Given the description of an element on the screen output the (x, y) to click on. 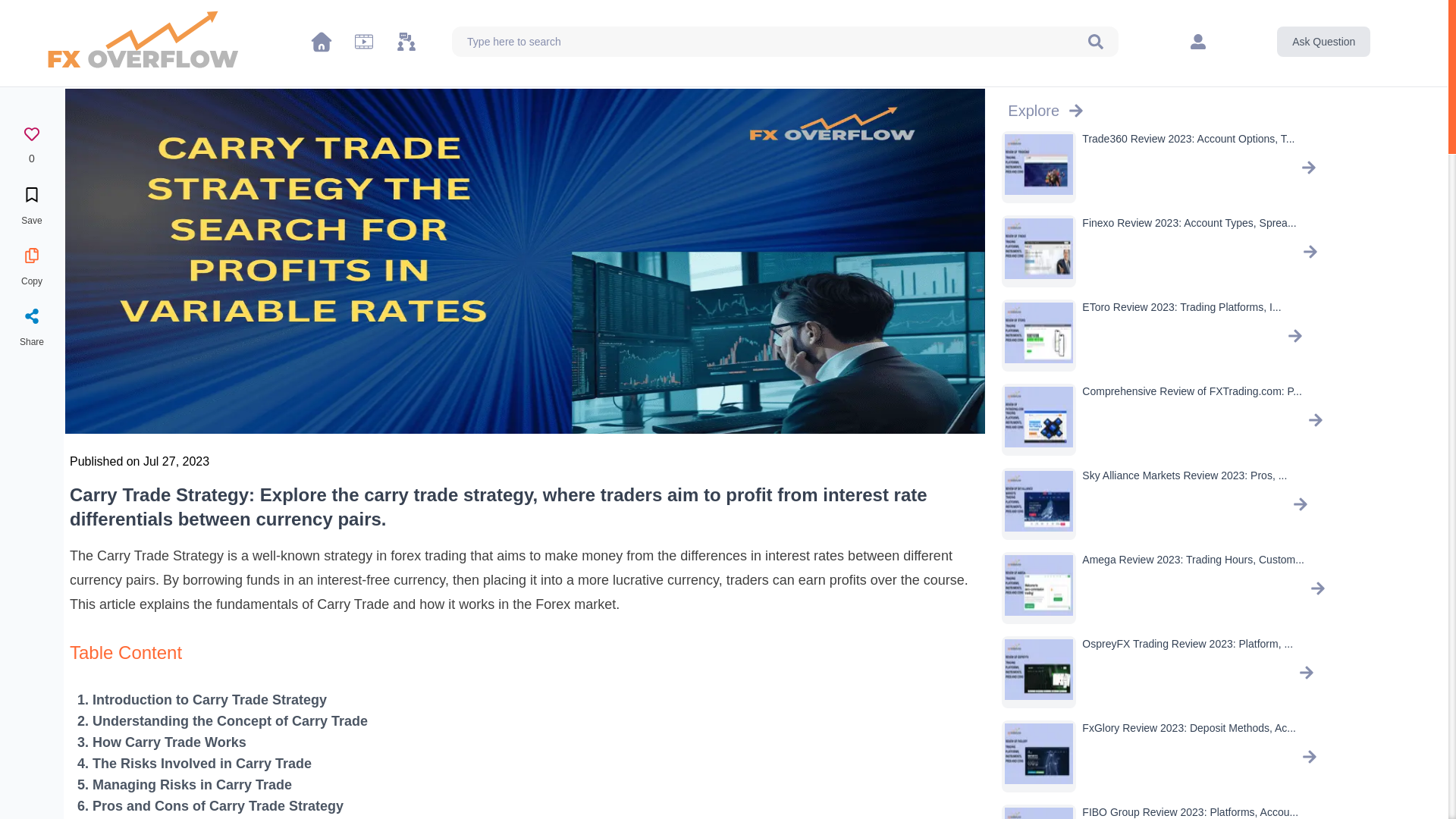
Jul 27, 2023 (139, 461)
Ask Question (1323, 41)
